Given the description of an element on the screen output the (x, y) to click on. 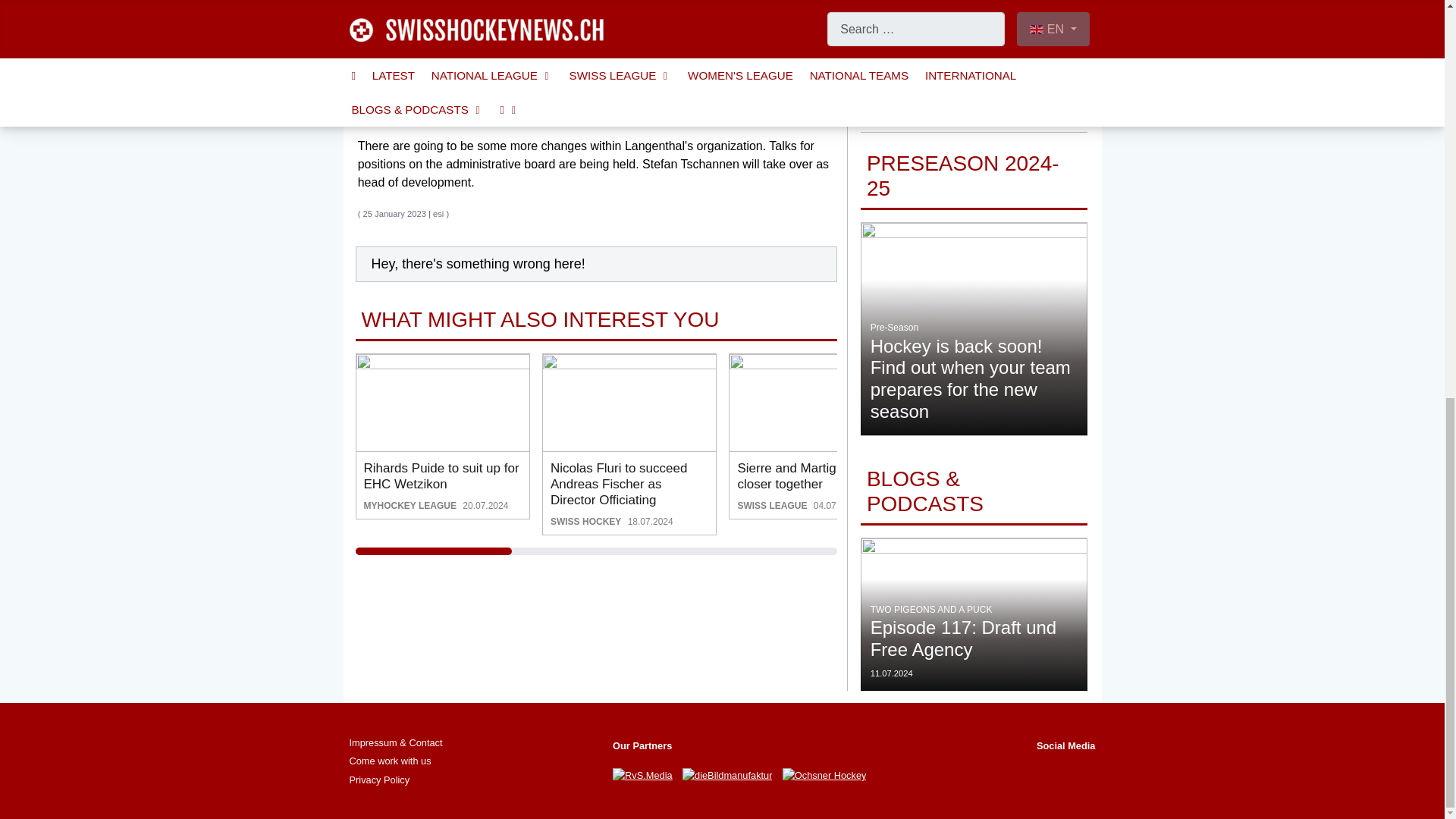
HC Ajoie signs young goalie Kilian Bernasconi from EHC Arosa (1003, 402)
EHC Olten adds Ramon Schaufelberger to the coaching staff (1189, 402)
Sierre and Martigny to work closer together (815, 402)
Rihards Puide to suit up for EHC Wetzikon (442, 402)
